Given the description of an element on the screen output the (x, y) to click on. 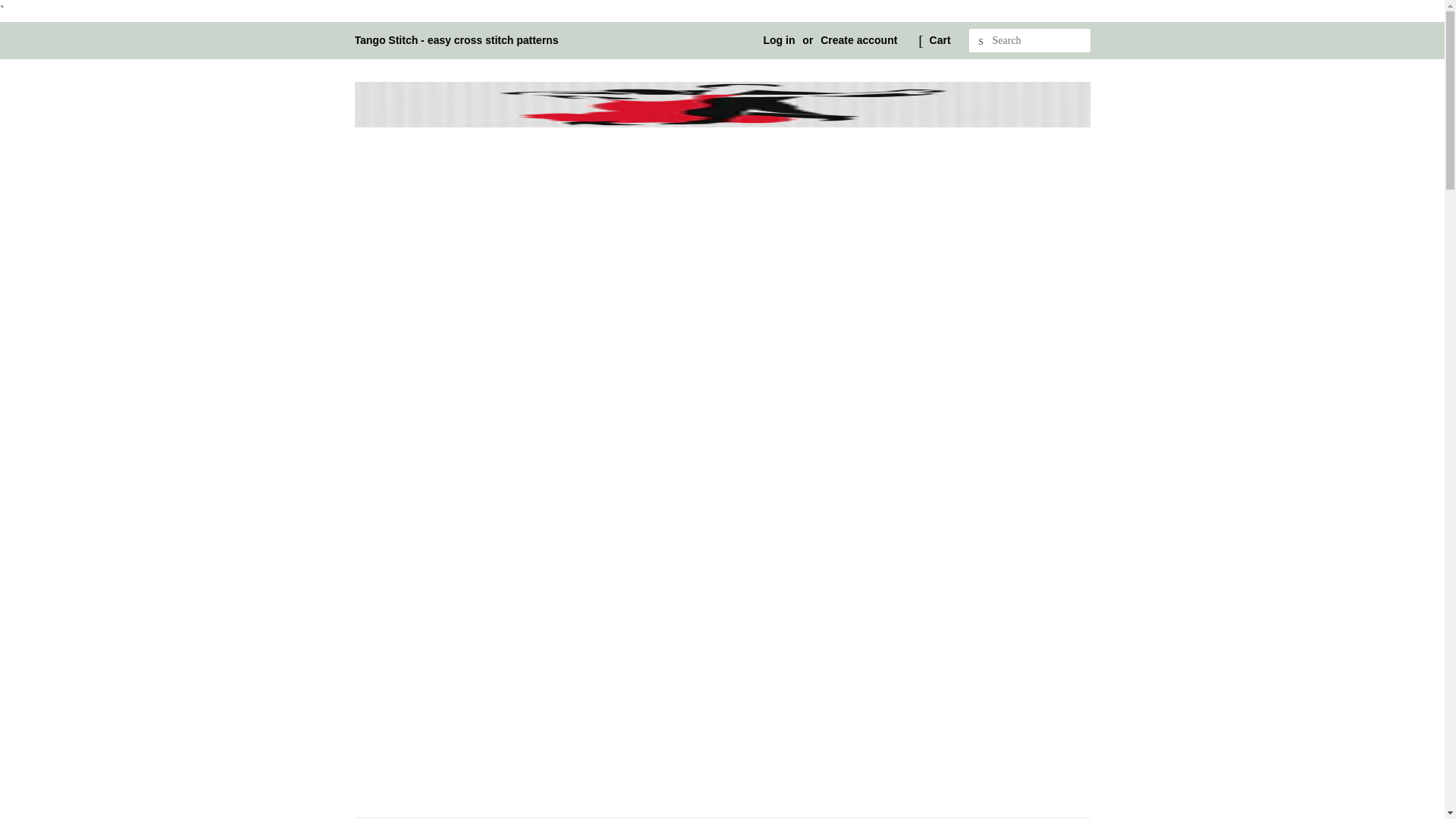
Log in (778, 39)
Cart (940, 40)
Search (980, 41)
Create account (858, 39)
Tango Stitch - easy cross stitch patterns (457, 39)
